Given the description of an element on the screen output the (x, y) to click on. 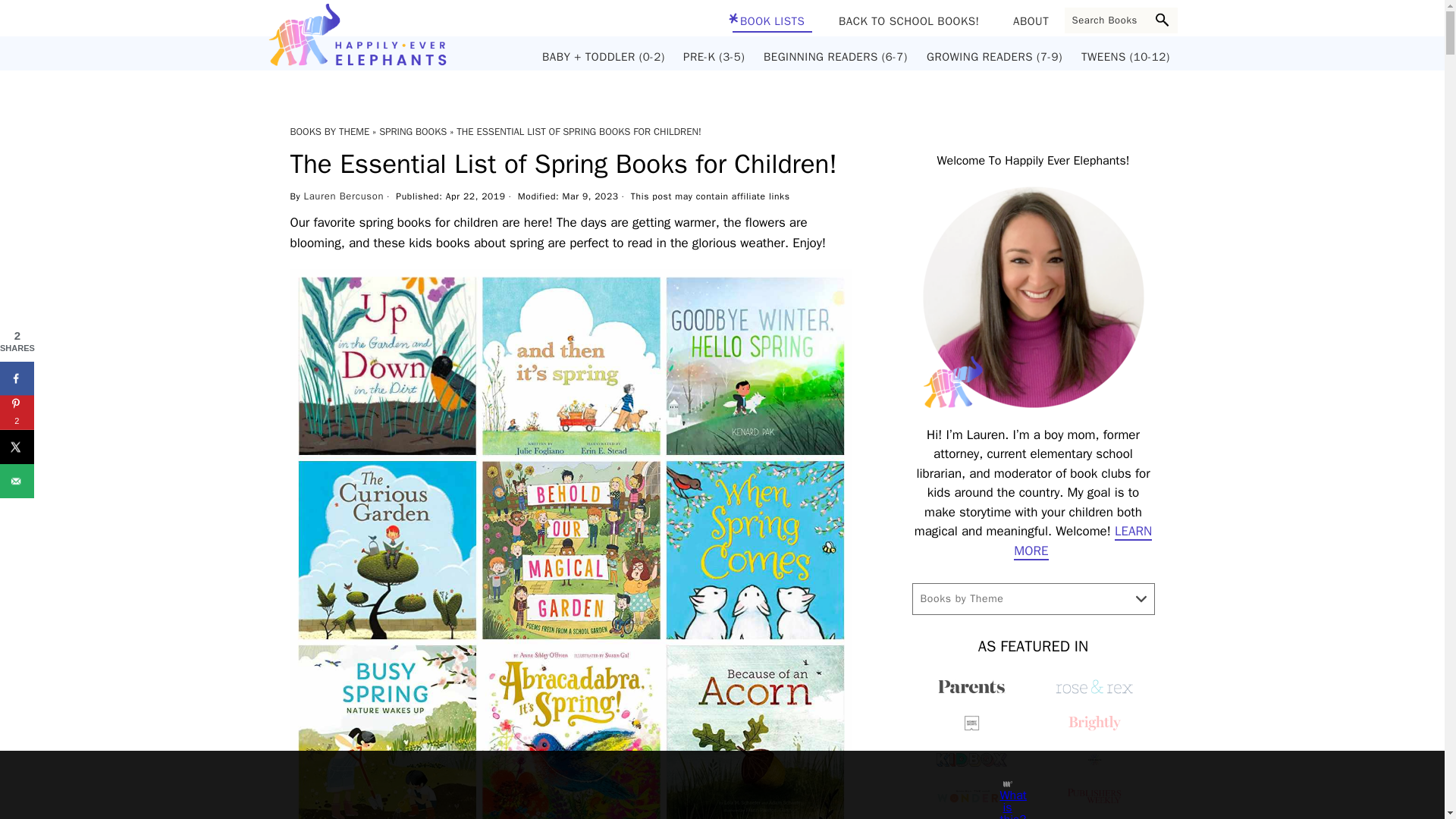
BOOKS BY THEME (329, 131)
Share on Facebook (16, 377)
Share on X (16, 446)
SPRING BOOKS (412, 131)
ABOUT (1031, 21)
Save to Pinterest (16, 411)
BACK TO SCHOOL BOOKS! (909, 21)
Lauren Bercuson (344, 195)
Send over email (16, 480)
BOOK LISTS (772, 22)
